Given the description of an element on the screen output the (x, y) to click on. 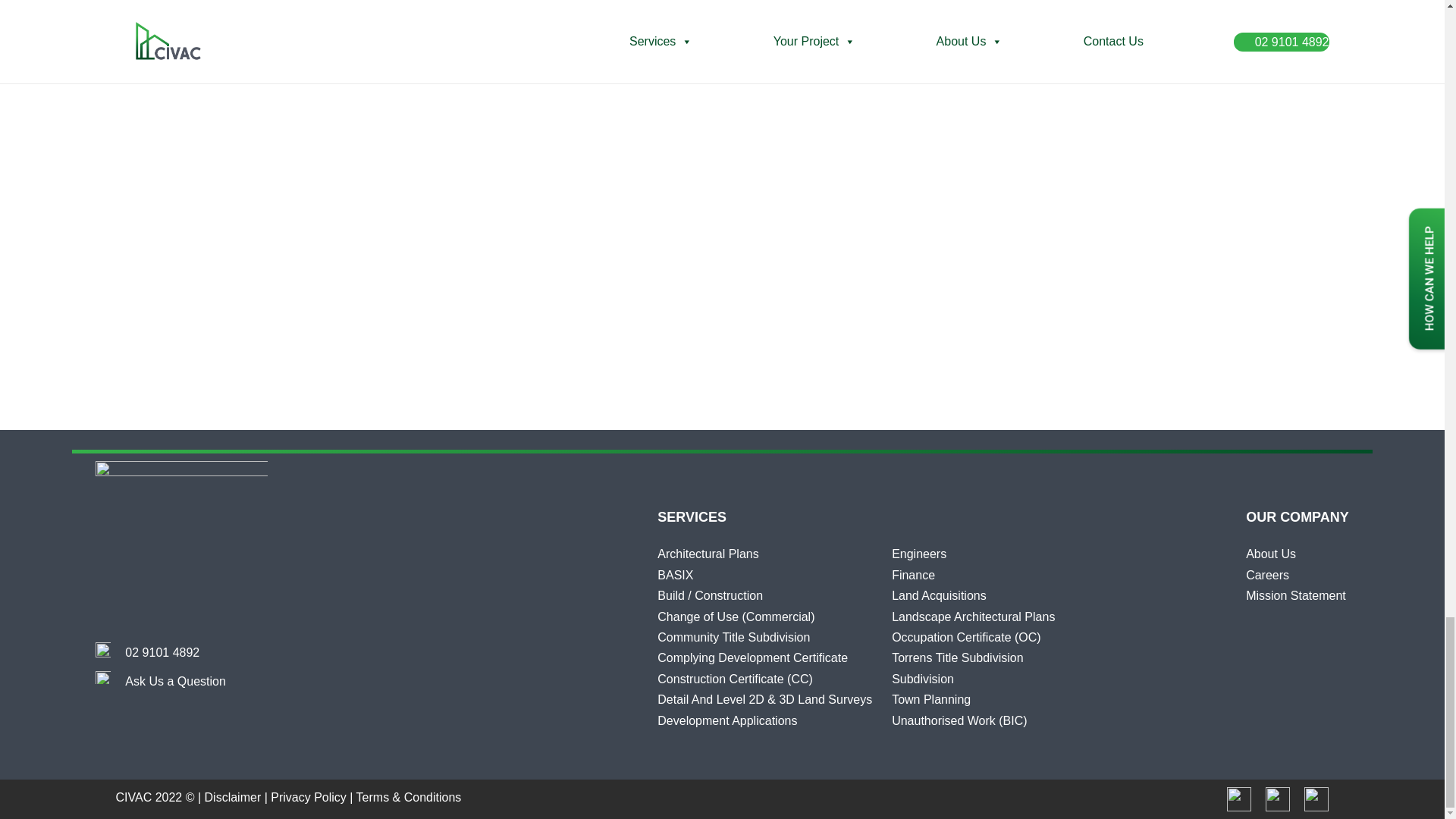
Talk to Us Now (162, 652)
